Given the description of an element on the screen output the (x, y) to click on. 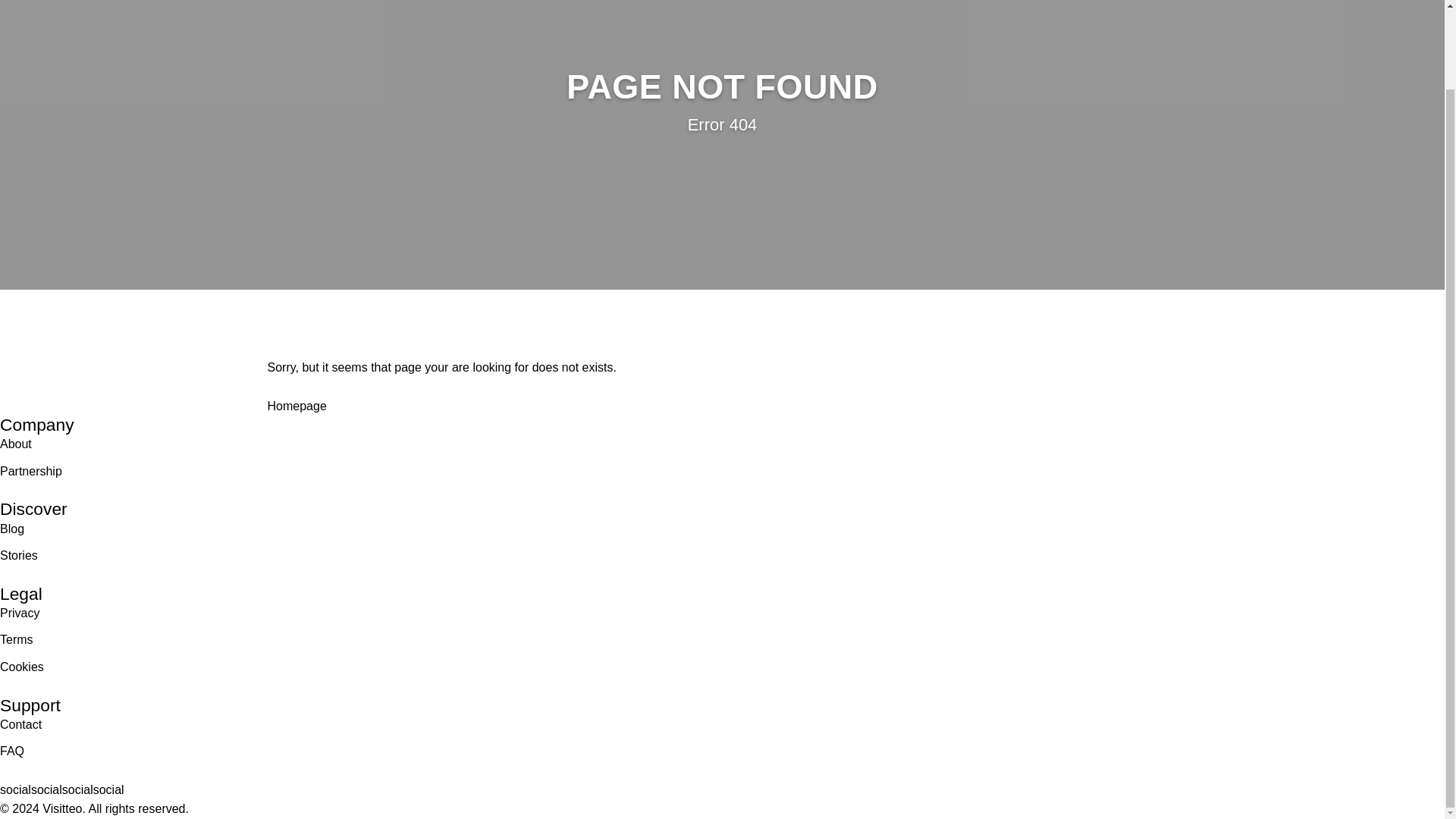
Homepage (296, 406)
Contact (21, 724)
Partnership (31, 471)
social (77, 790)
Privacy (19, 613)
social (15, 790)
Terms (16, 639)
Stories (18, 555)
About (16, 444)
Blog (12, 528)
